Given the description of an element on the screen output the (x, y) to click on. 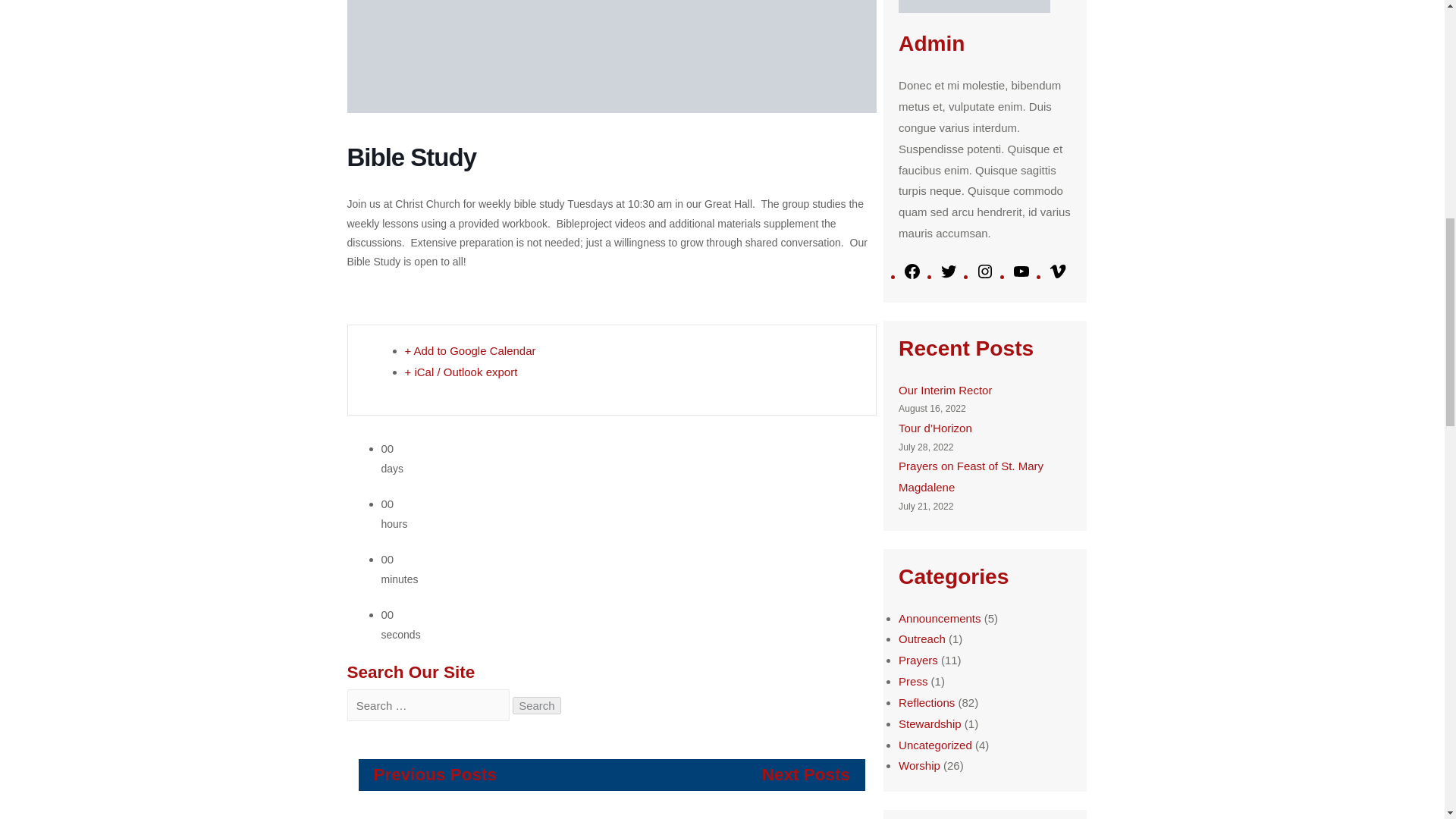
Prayers on Feast of St. Mary Magdalene (970, 476)
Worship (919, 765)
Stewardship (929, 723)
Uncategorized (935, 744)
Search (536, 704)
Search (536, 704)
Next Posts (805, 773)
Previous Posts (434, 773)
Reflections (926, 702)
Our Interim Rector (944, 390)
